Given the description of an element on the screen output the (x, y) to click on. 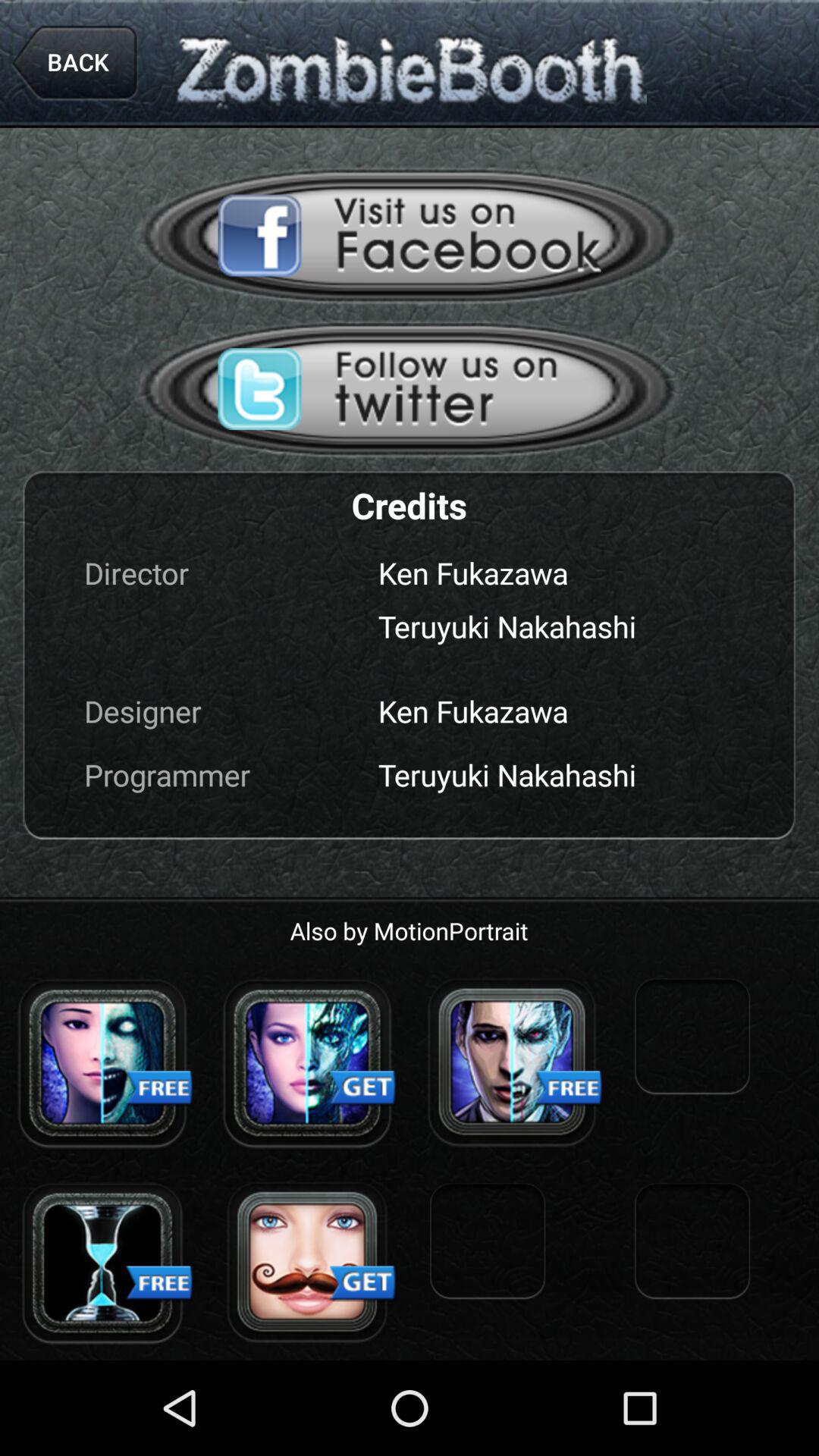
open app details (102, 1062)
